Given the description of an element on the screen output the (x, y) to click on. 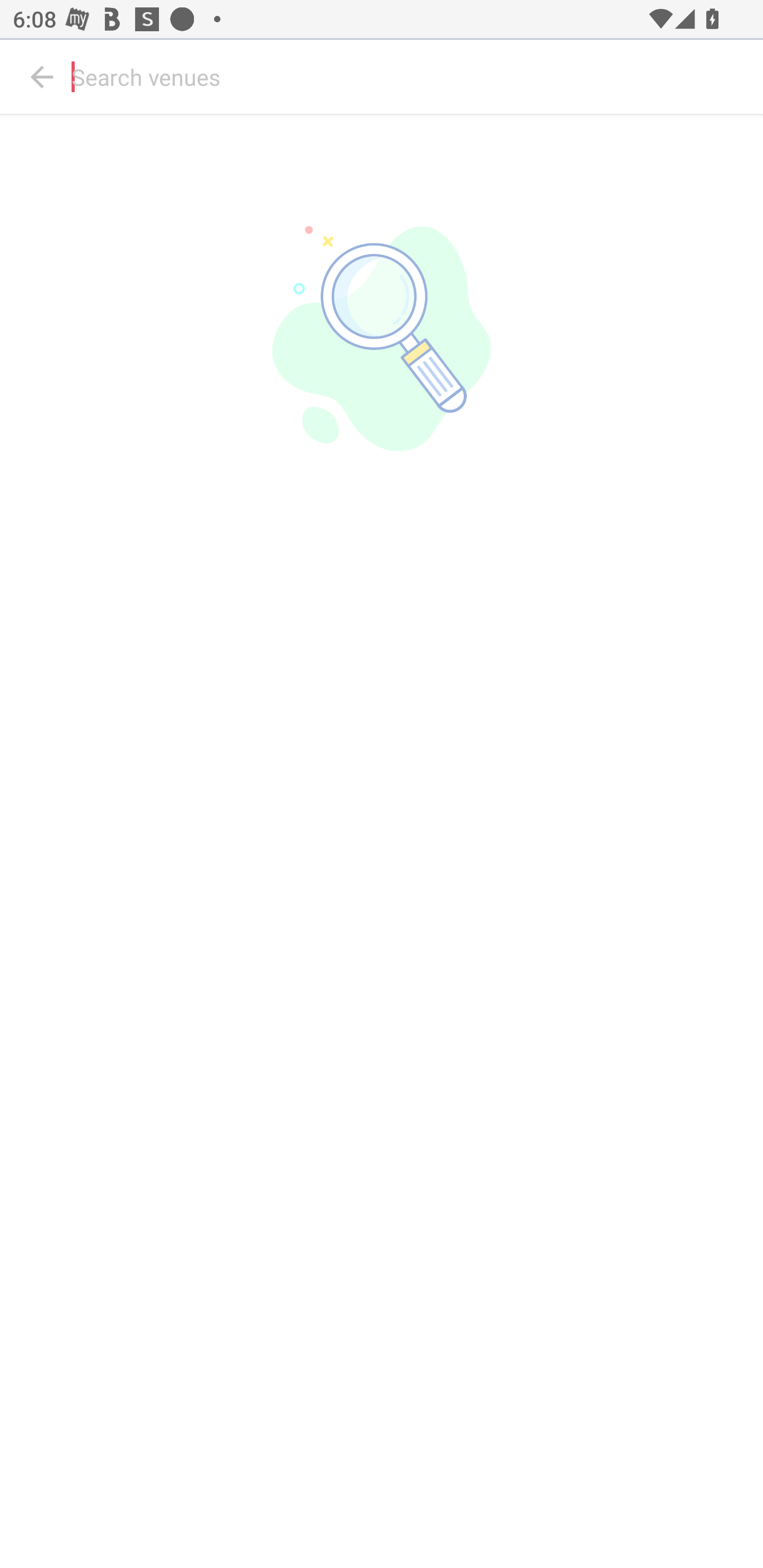
Back (42, 76)
Search venues (413, 76)
